Given the description of an element on the screen output the (x, y) to click on. 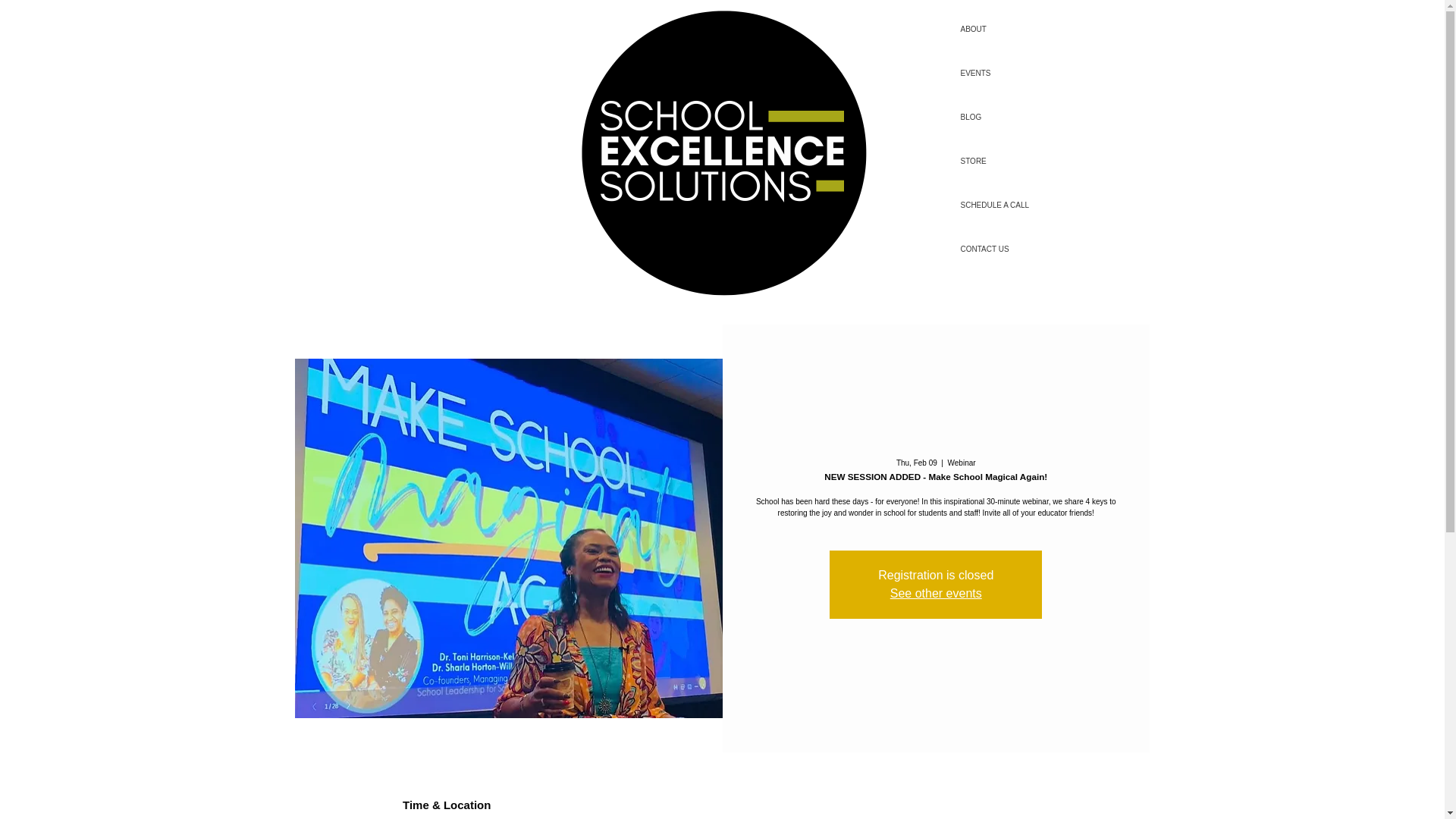
See other events (935, 593)
ABOUT (1016, 29)
BLOG (1016, 117)
EVENTS (1016, 73)
CONTACT US (1016, 249)
SCHEDULE A CALL (1016, 205)
STORE (1016, 161)
